Given the description of an element on the screen output the (x, y) to click on. 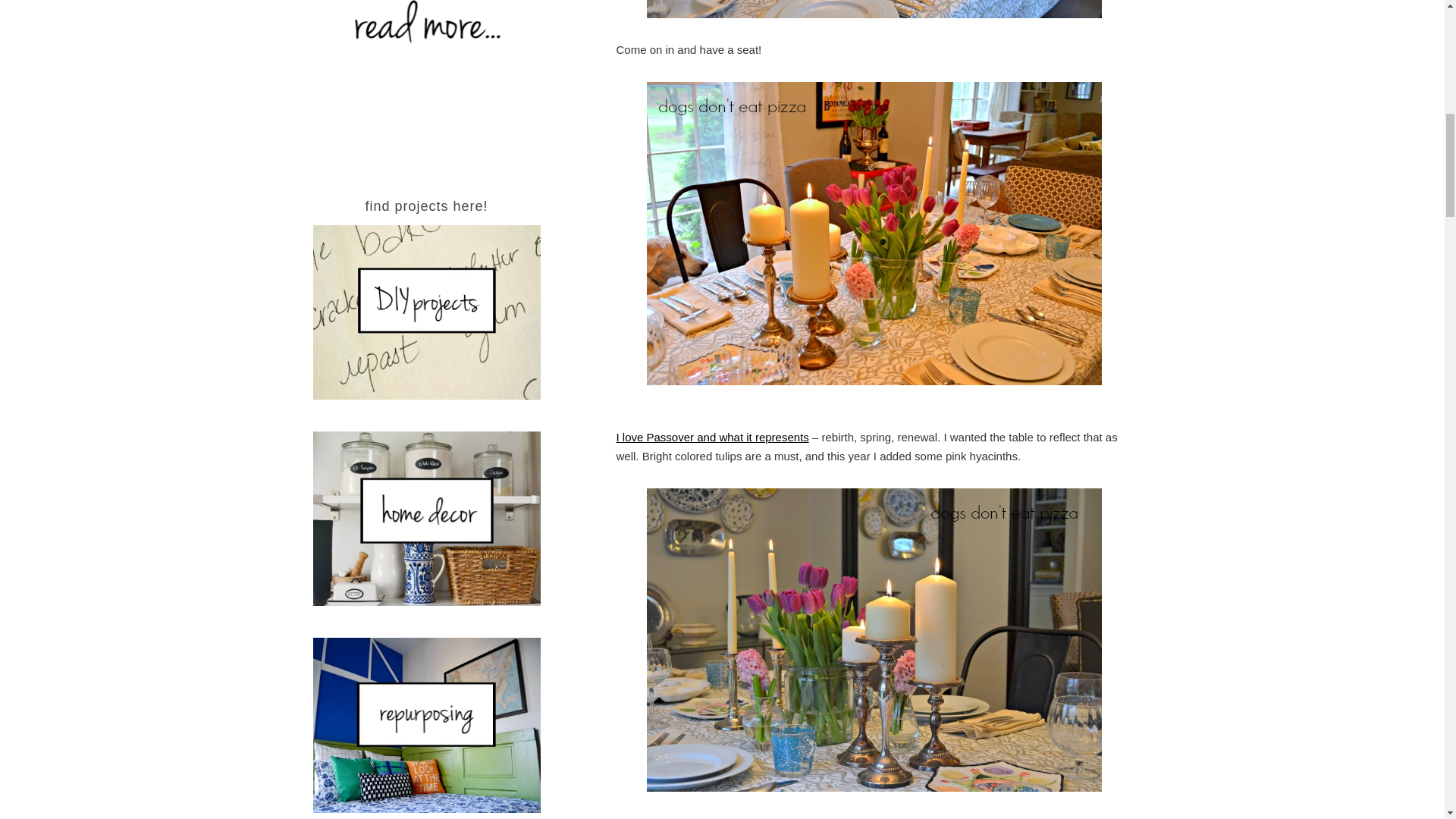
I love Passover and what it represents (711, 436)
Passover and Spring (711, 436)
Passover-table-side-view - Dogs Don't Eat Pizza (873, 9)
